Given the description of an element on the screen output the (x, y) to click on. 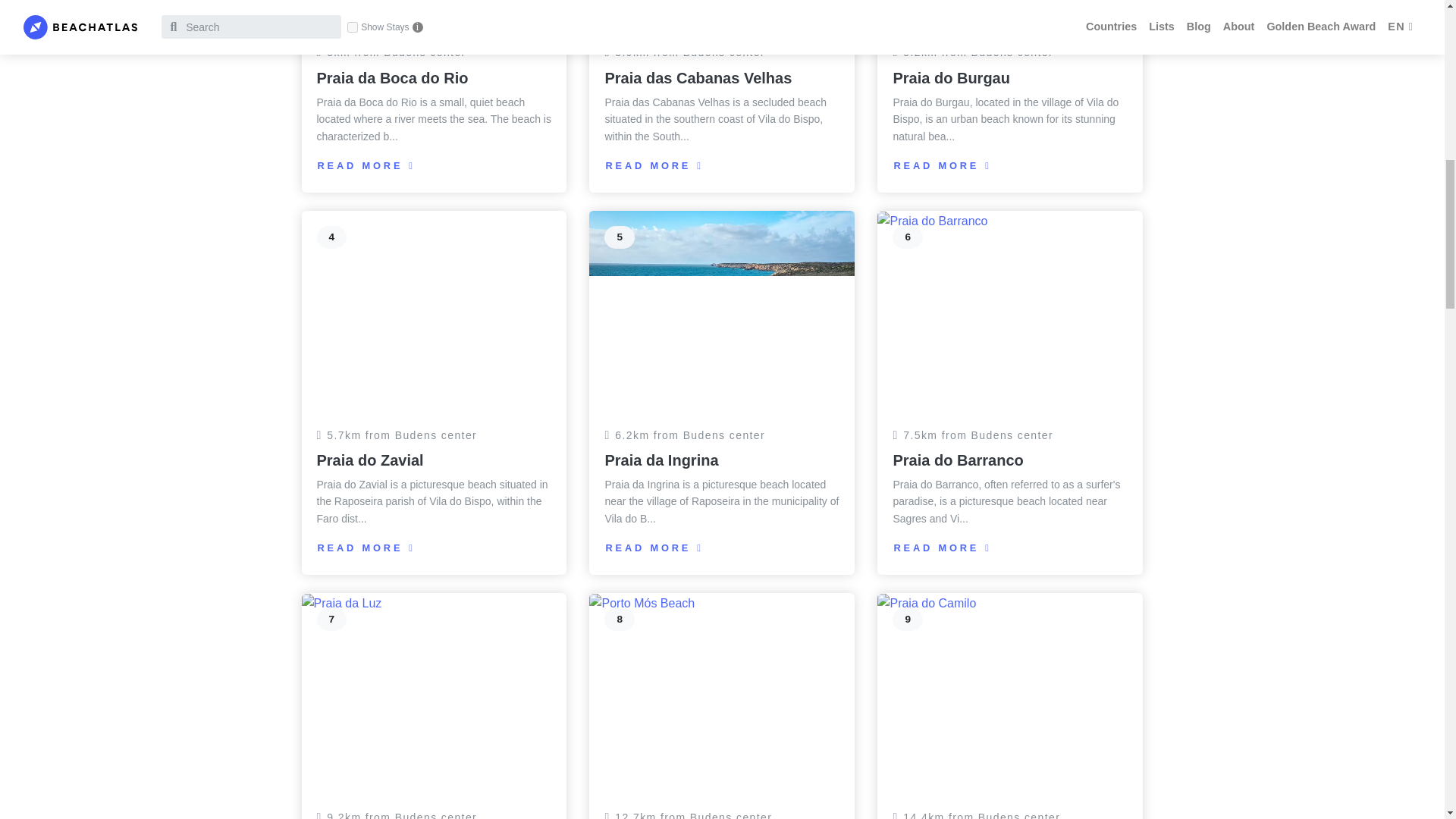
READ MORE (371, 163)
READ MORE (658, 163)
Praia da Boca do Rio (392, 77)
Praia das Cabanas Velhas (698, 77)
Praia do Burgau (950, 77)
READ MORE (946, 163)
